Given the description of an element on the screen output the (x, y) to click on. 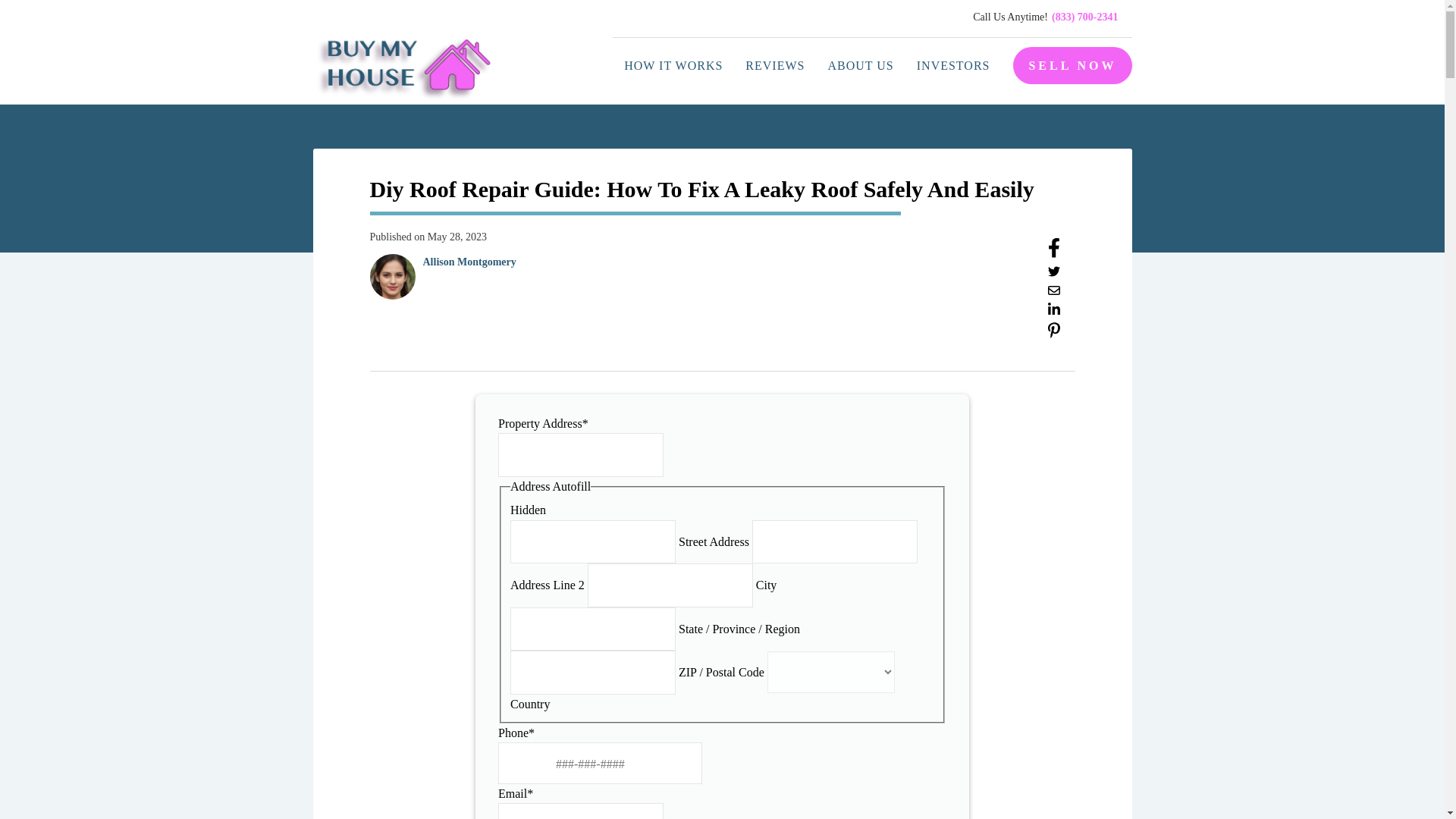
Allison Montgomery (469, 262)
INVESTORS (953, 65)
Share via Email (1053, 291)
HOW IT WORKS (672, 65)
Share on LinkedIn (1053, 311)
SELL NOW (1072, 65)
Pin it (1053, 333)
Share on Facebook (1053, 253)
REVIEWS (774, 65)
ABOUT US (859, 65)
